Given the description of an element on the screen output the (x, y) to click on. 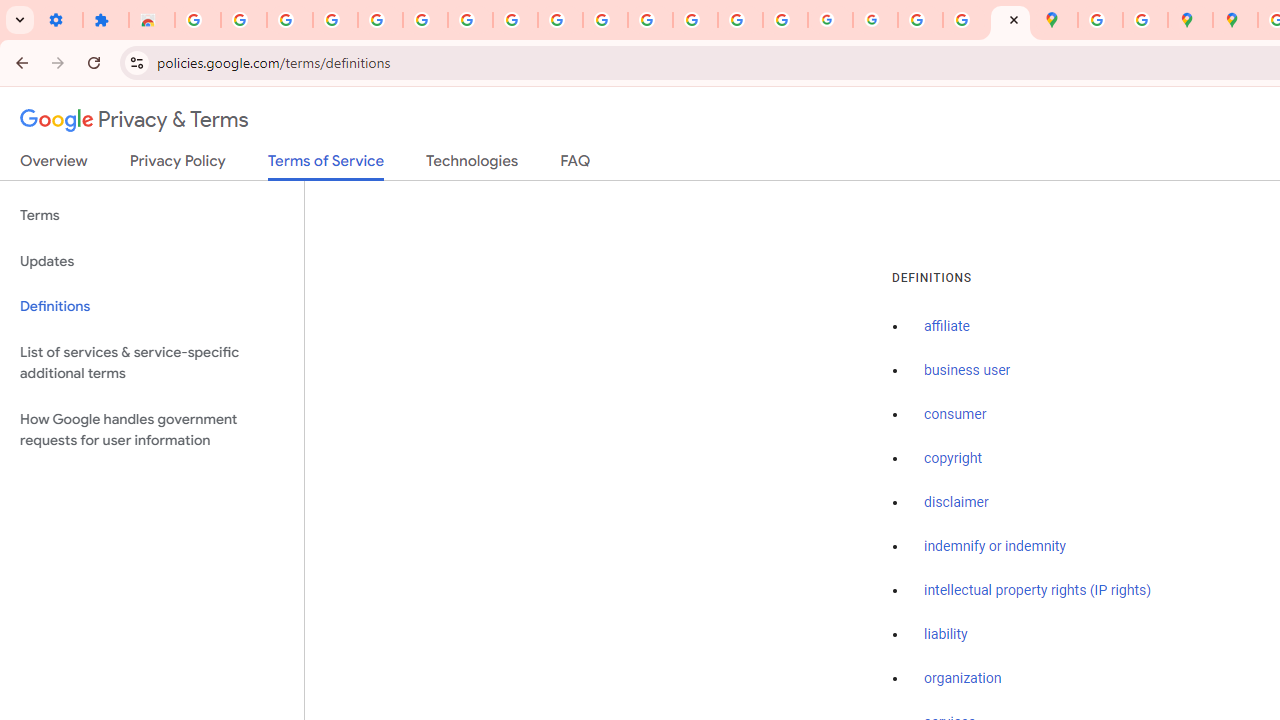
Google Maps (1055, 20)
liability (945, 634)
Safety in Our Products - Google Safety Center (1145, 20)
Delete photos & videos - Computer - Google Photos Help (290, 20)
Sign in - Google Accounts (198, 20)
